Given the description of an element on the screen output the (x, y) to click on. 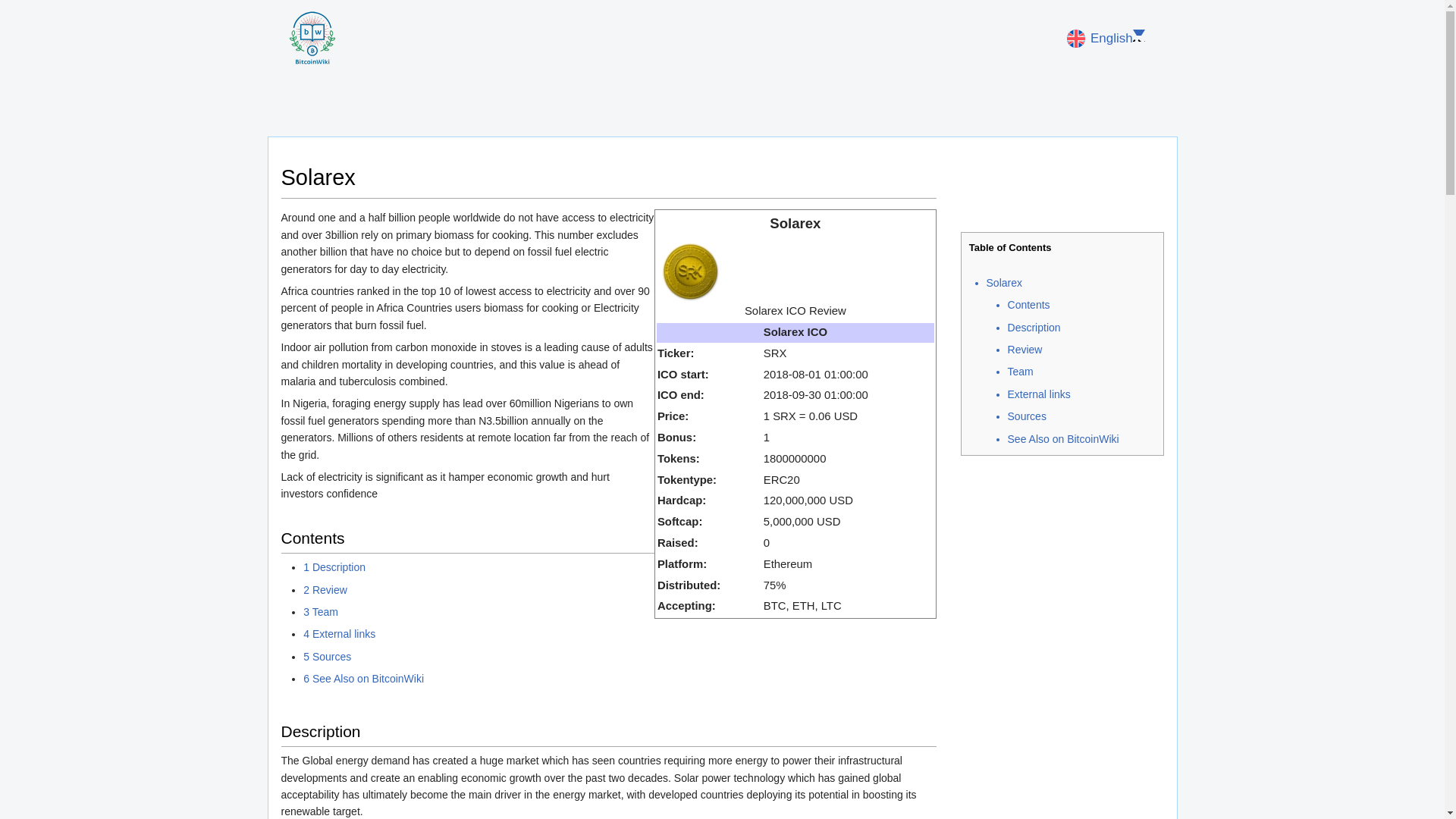
3 Team (319, 612)
1 Description (333, 567)
6 See Also on BitcoinWiki (362, 678)
English (1106, 38)
5 Sources (326, 656)
2 Review (324, 589)
4 External links (338, 633)
